Given the description of an element on the screen output the (x, y) to click on. 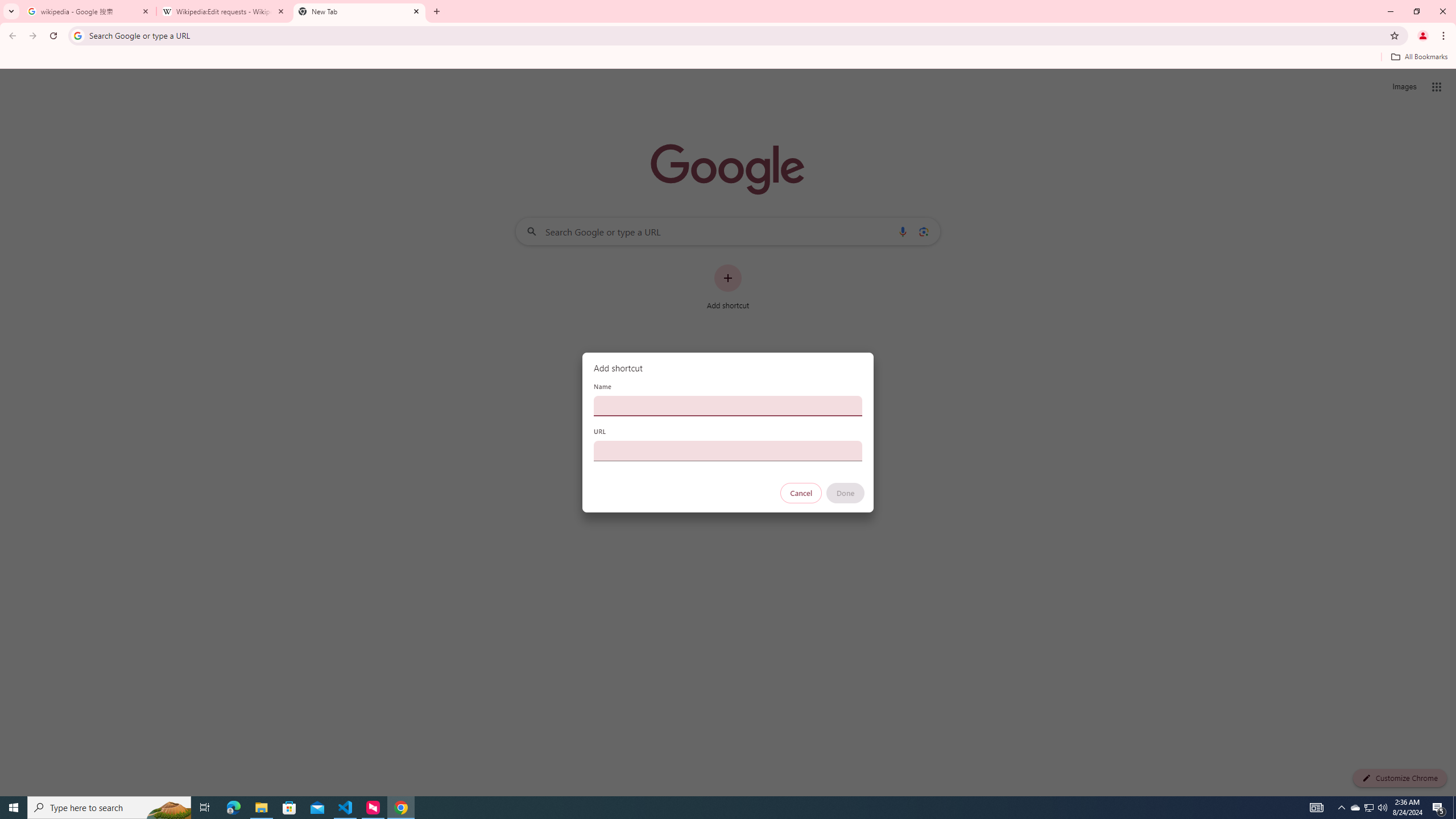
URL (727, 450)
New Tab (359, 11)
